Given the description of an element on the screen output the (x, y) to click on. 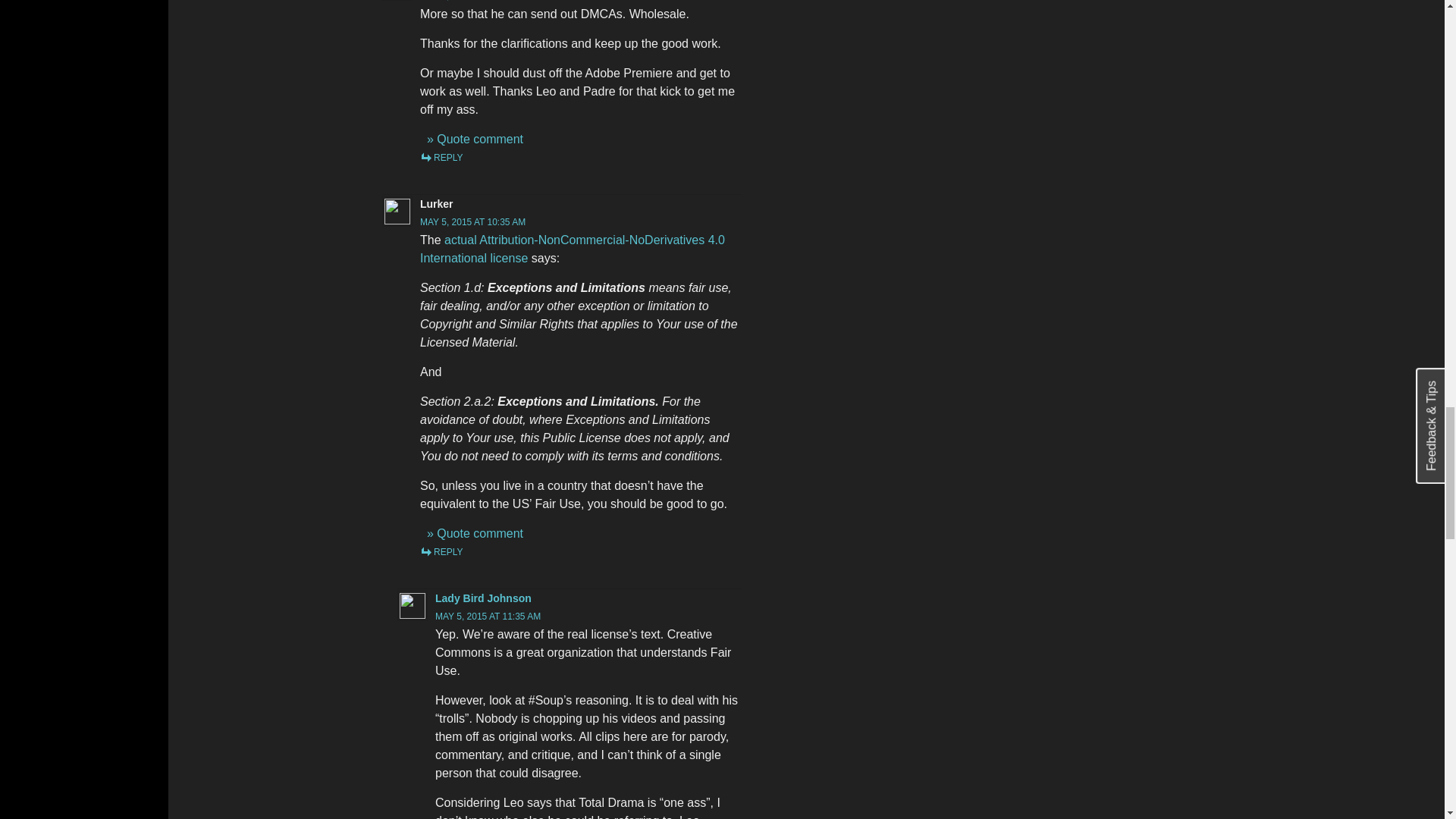
Click here or select text to quote comment (474, 533)
Click here or select text to quote comment (474, 138)
